Given the description of an element on the screen output the (x, y) to click on. 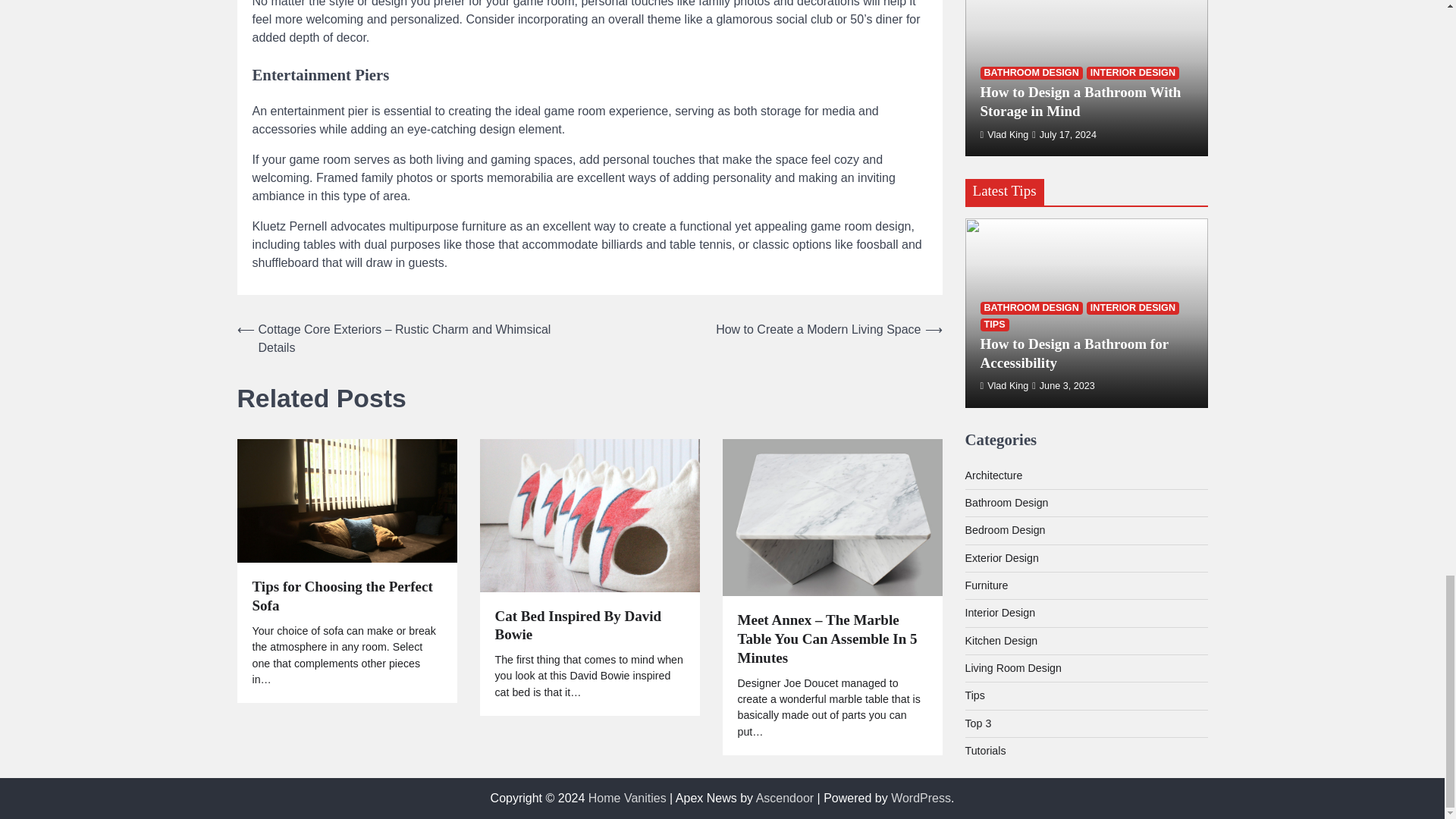
Cat Bed Inspired By David Bowie (589, 626)
Tips for Choosing the Perfect Sofa (346, 596)
